Given the description of an element on the screen output the (x, y) to click on. 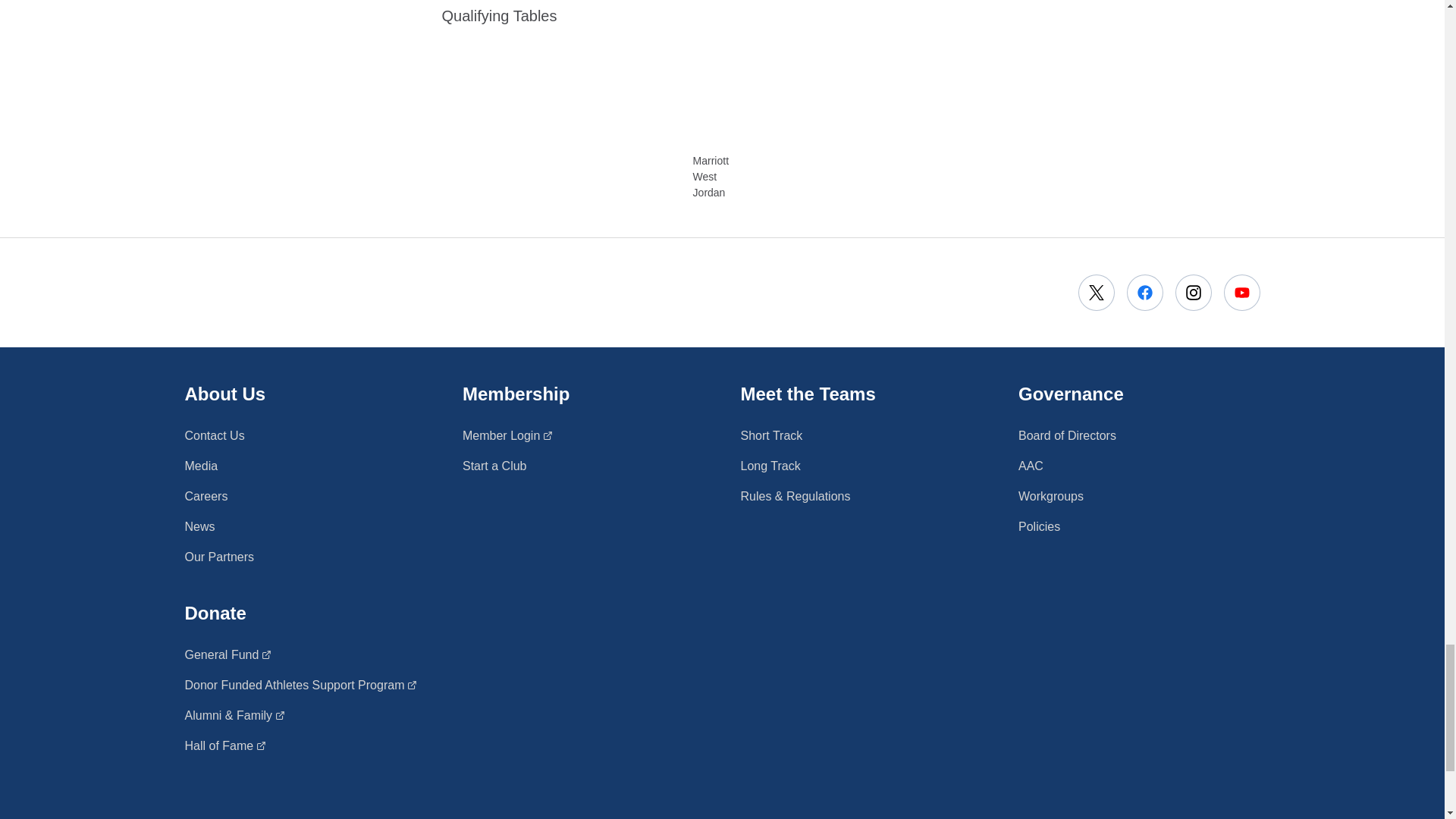
Our Partners (219, 556)
Short Track (770, 435)
Go to Twitter (1096, 292)
Go to Facebook (1144, 292)
Go to Instagram (1192, 292)
News (199, 526)
Go to Youtube (1242, 292)
Start a Club (494, 466)
Careers (206, 496)
Media (508, 435)
Contact Us (201, 466)
